Given the description of an element on the screen output the (x, y) to click on. 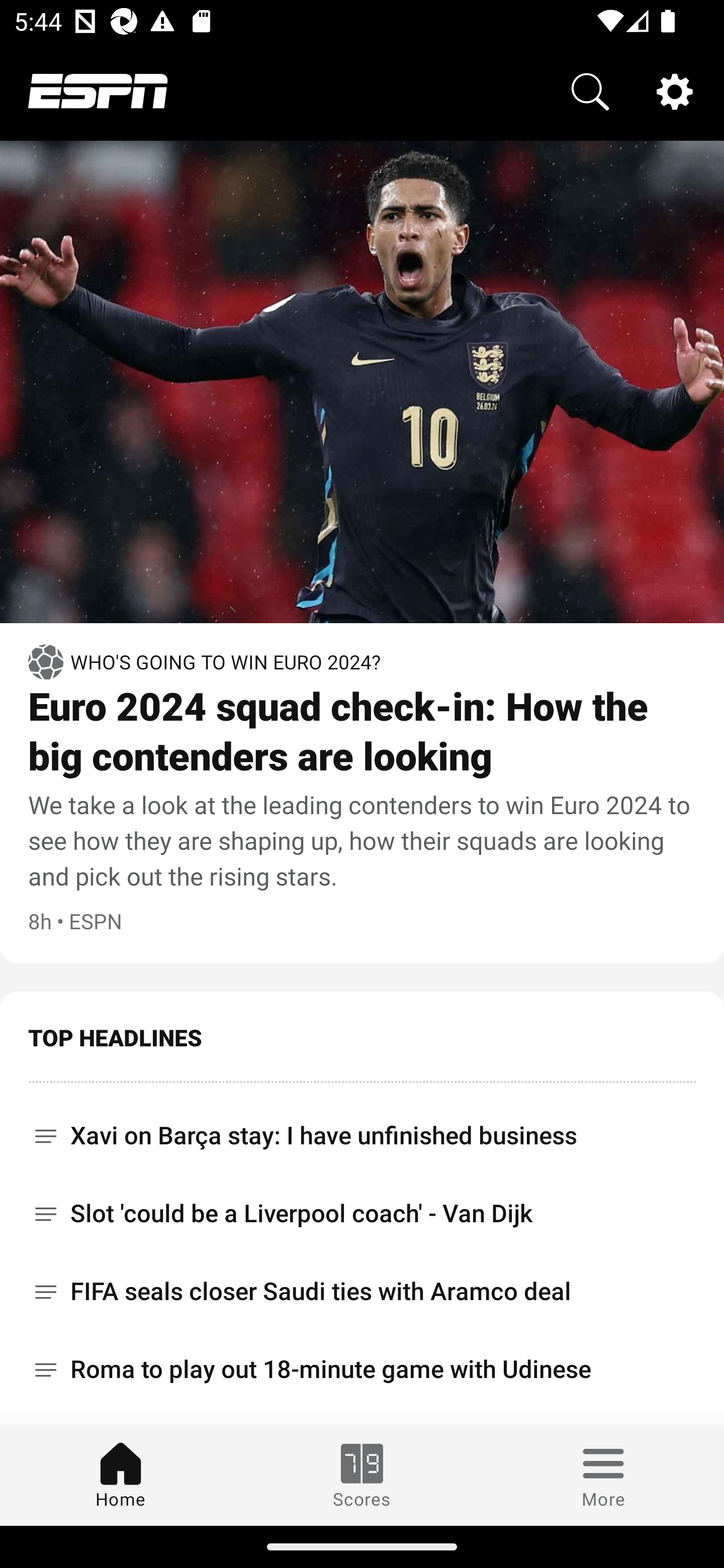
Search (590, 90)
Settings (674, 90)
 Xavi on Barça stay: I have unfinished business (362, 1128)
 Slot 'could be a Liverpool coach' - Van Dijk (362, 1213)
 FIFA seals closer Saudi ties with Aramco deal (362, 1291)
 Roma to play out 18-minute game with Udinese (362, 1369)
Scores (361, 1475)
More (603, 1475)
